Given the description of an element on the screen output the (x, y) to click on. 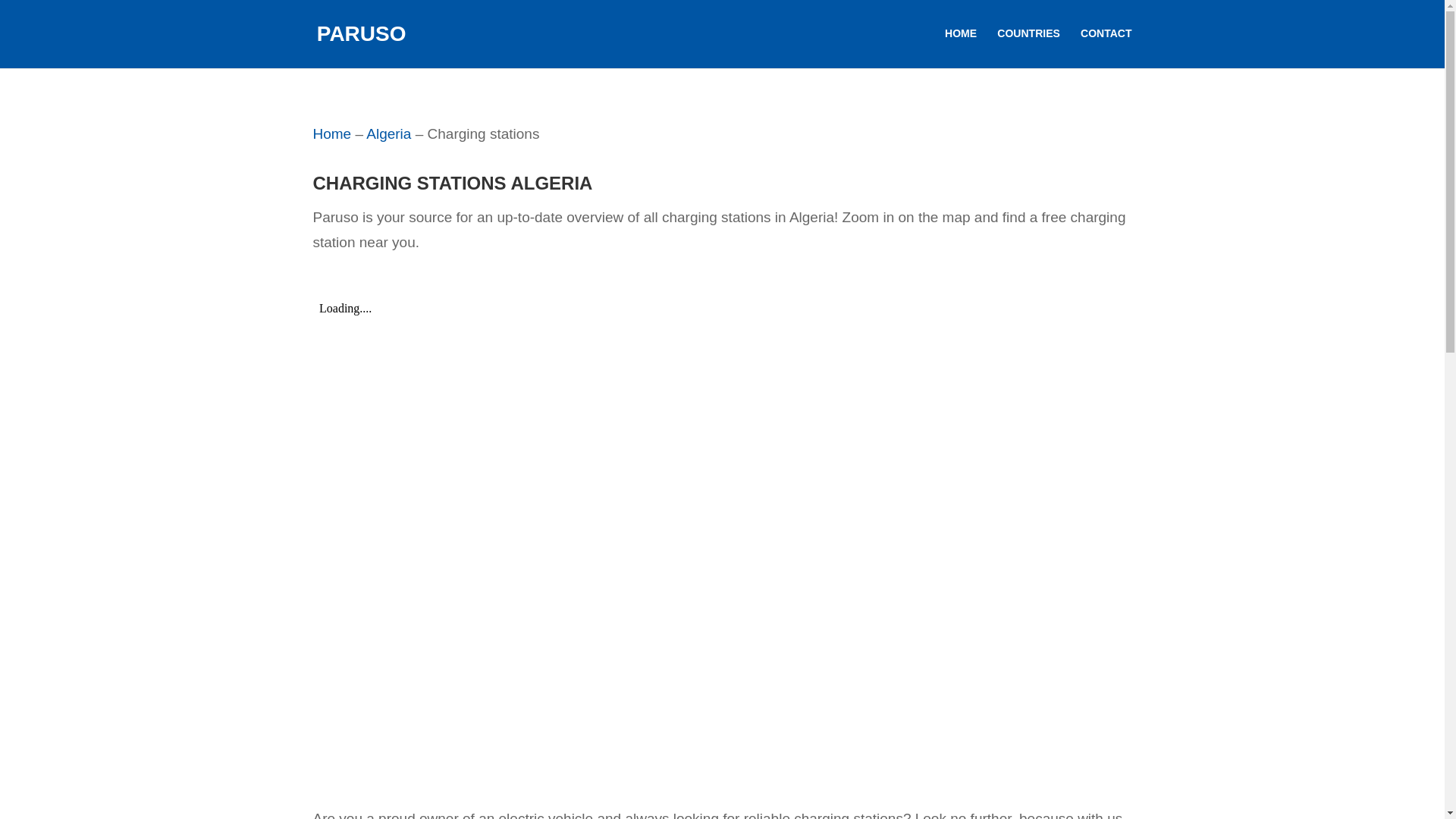
PARUSO (361, 32)
Home (331, 133)
Algeria (388, 133)
CONTACT (1105, 46)
COUNTRIES (1028, 46)
